Given the description of an element on the screen output the (x, y) to click on. 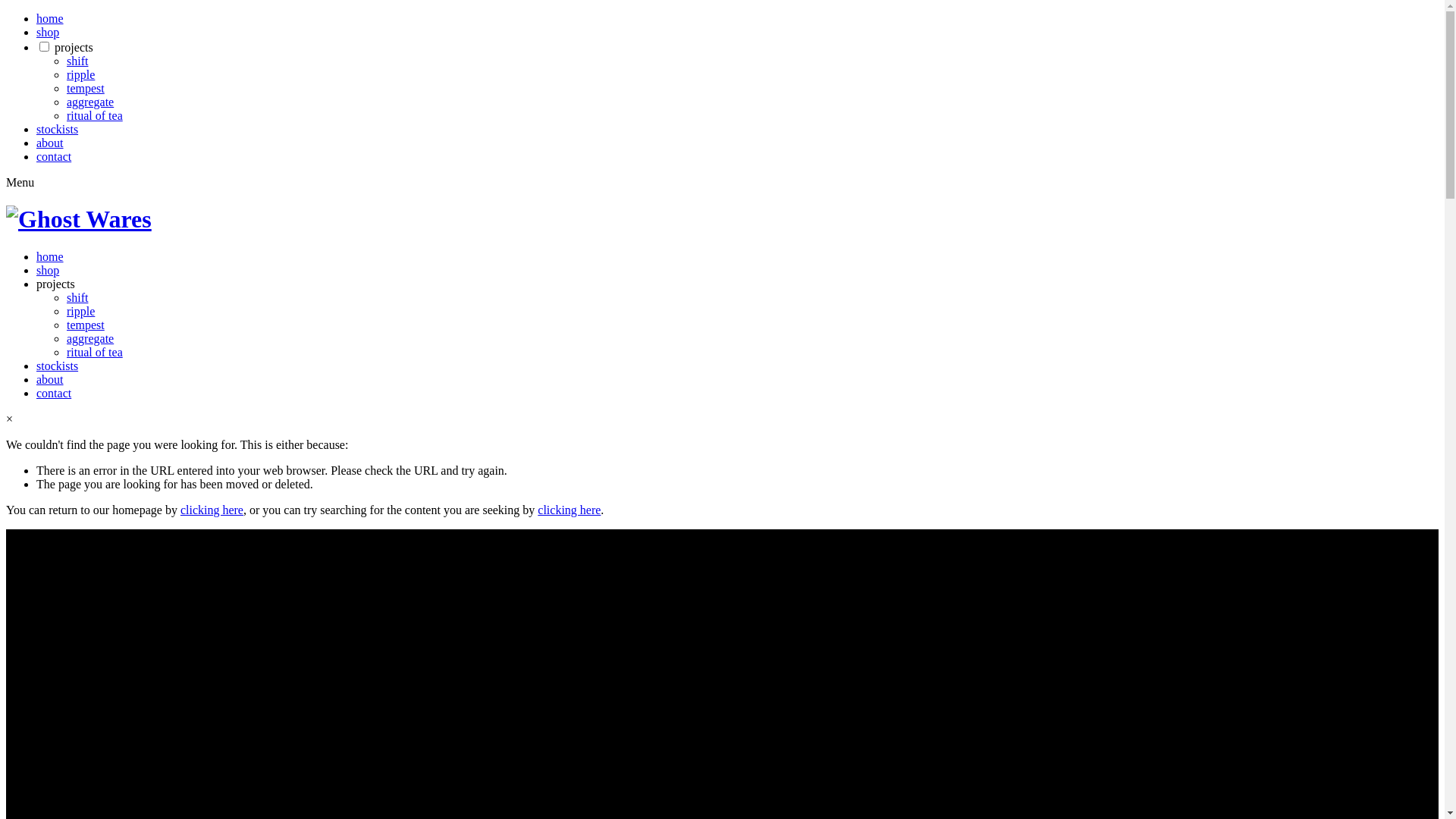
about Element type: text (49, 142)
shop Element type: text (47, 31)
ritual of tea Element type: text (94, 115)
aggregate Element type: text (89, 101)
clicking here Element type: text (568, 509)
ritual of tea Element type: text (94, 351)
aggregate Element type: text (89, 338)
shop Element type: text (47, 269)
stockists Element type: text (57, 128)
stockists Element type: text (57, 365)
contact Element type: text (53, 392)
shift Element type: text (76, 60)
tempest Element type: text (85, 324)
projects Element type: text (55, 283)
Menu Element type: text (20, 181)
clicking here Element type: text (211, 509)
projects Element type: text (73, 46)
about Element type: text (49, 379)
ripple Element type: text (80, 74)
tempest Element type: text (85, 87)
ripple Element type: text (80, 310)
home Element type: text (49, 256)
home Element type: text (49, 18)
contact Element type: text (53, 156)
shift Element type: text (76, 297)
